Given the description of an element on the screen output the (x, y) to click on. 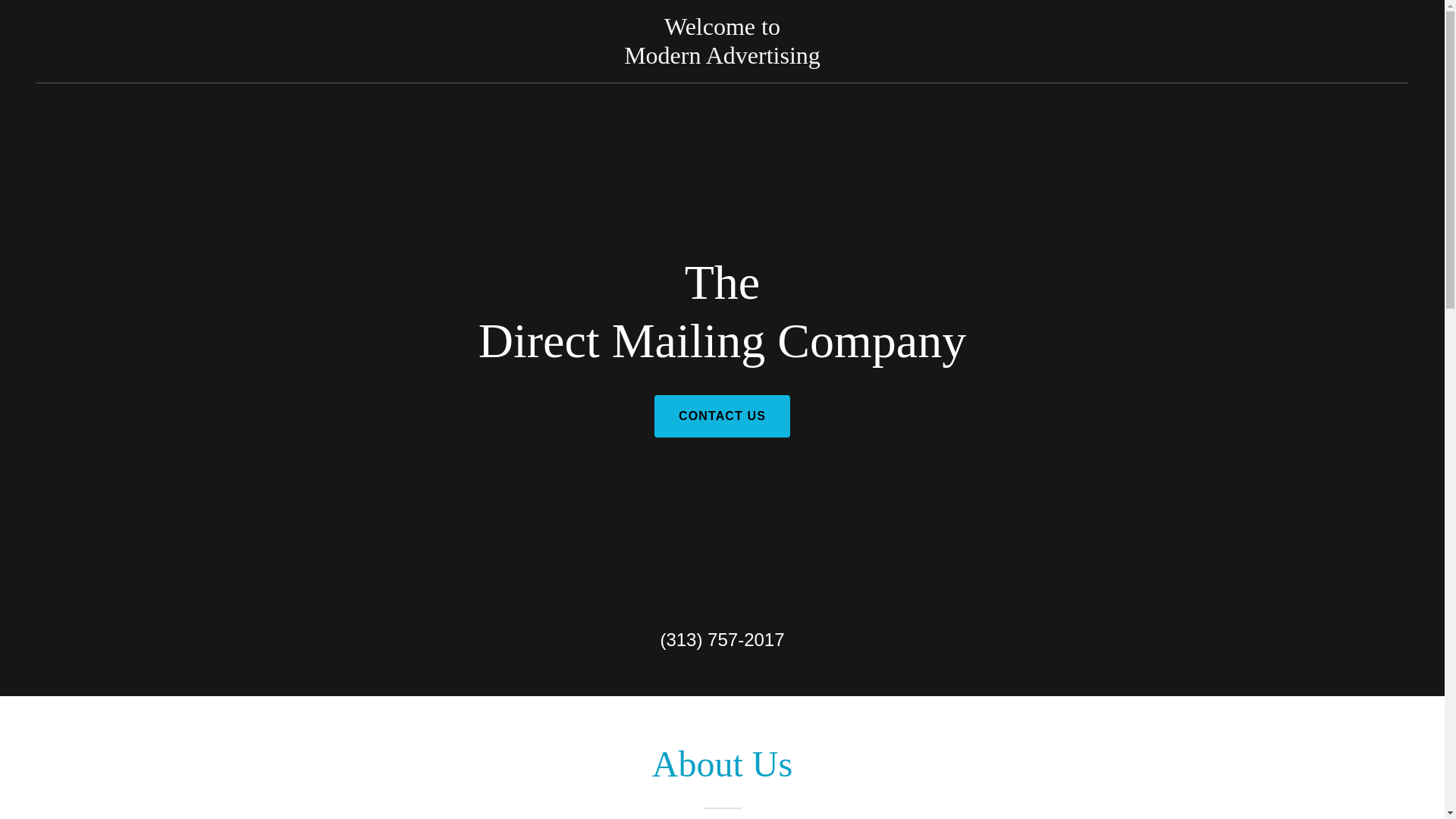
CONTACT US (721, 58)
